Given the description of an element on the screen output the (x, y) to click on. 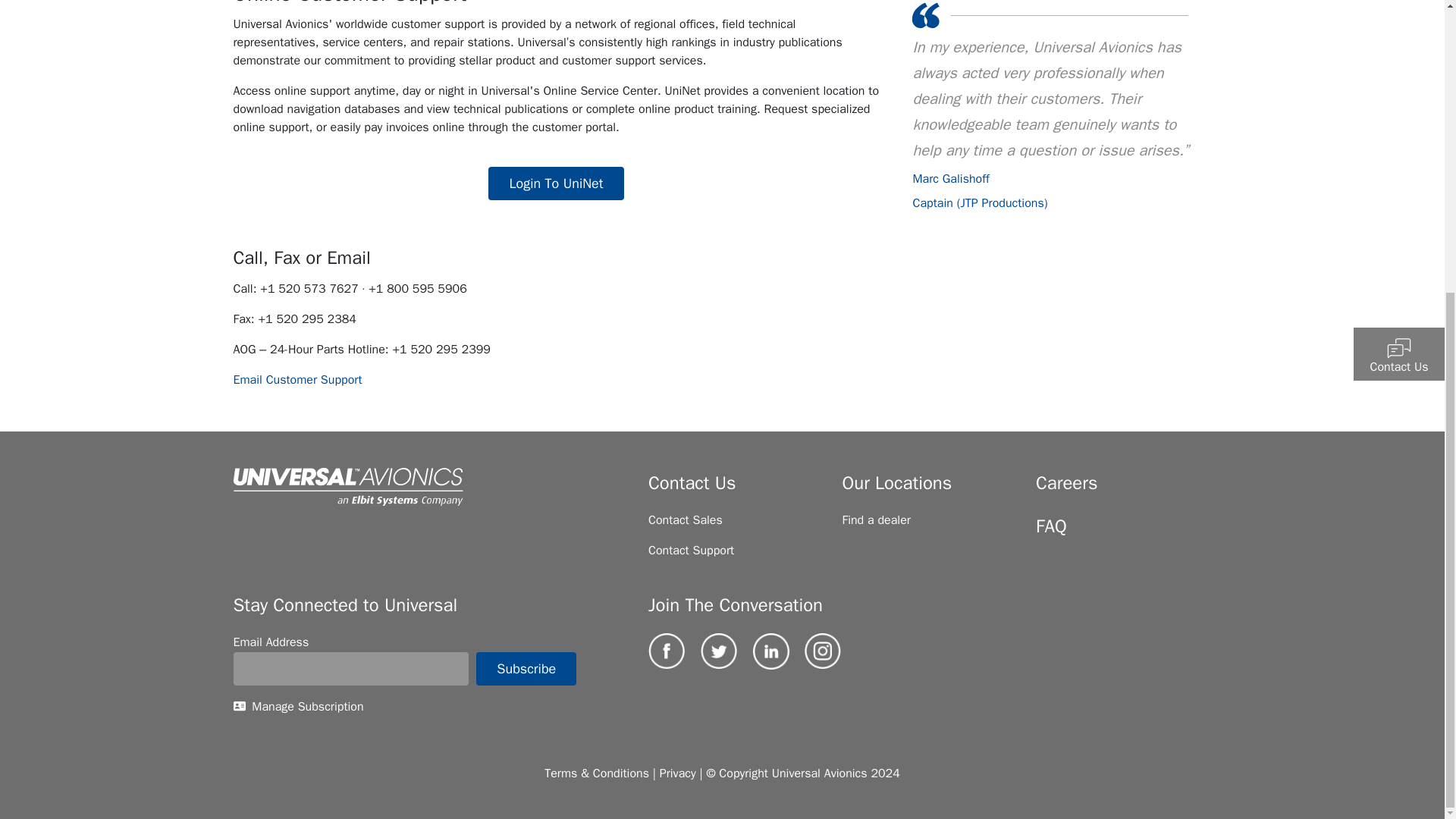
Twitter (718, 650)
Facebook (665, 650)
LinkedIn (770, 650)
Instagram (823, 650)
